Given the description of an element on the screen output the (x, y) to click on. 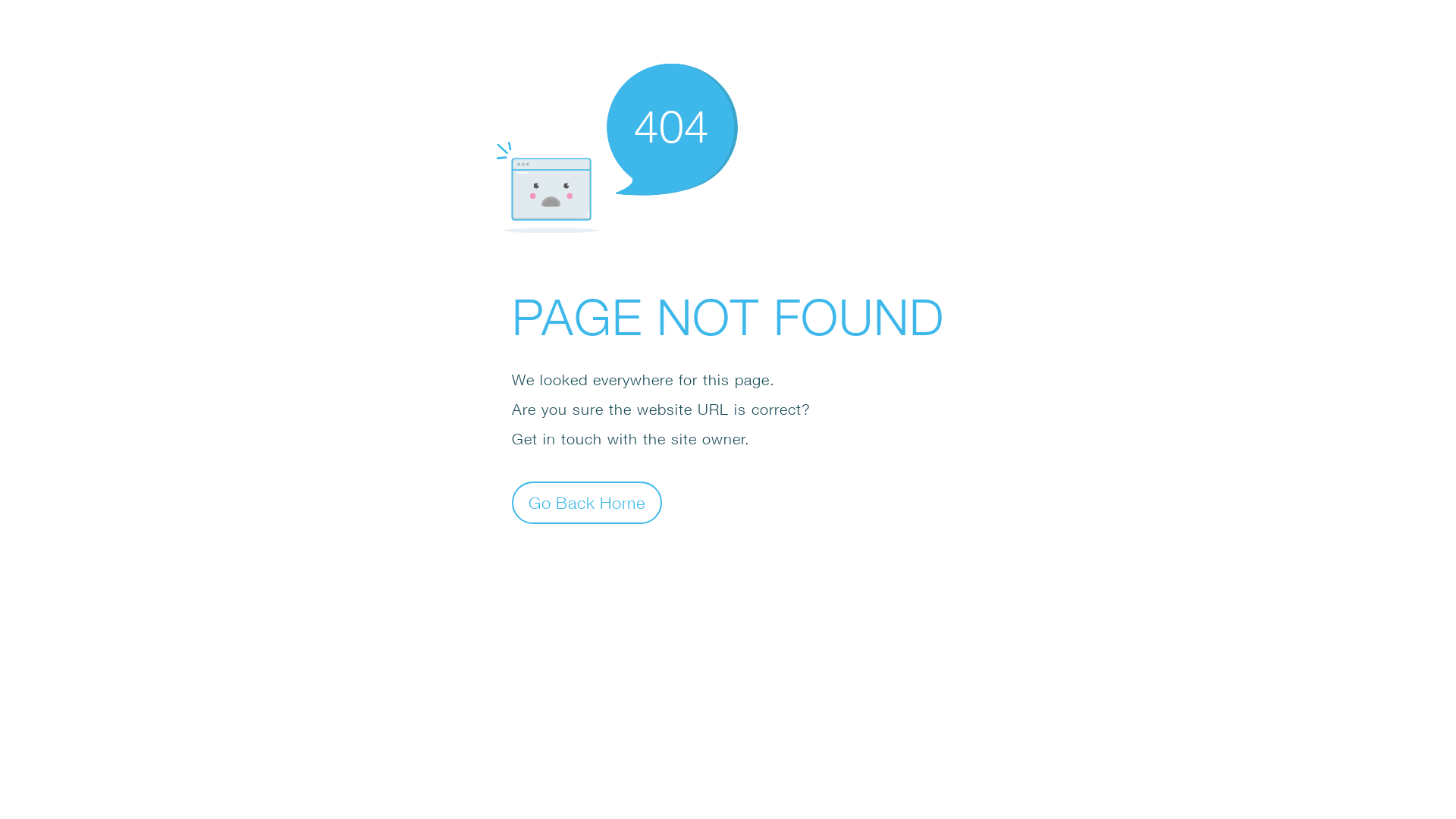
Go Back Home Element type: text (586, 502)
